Given the description of an element on the screen output the (x, y) to click on. 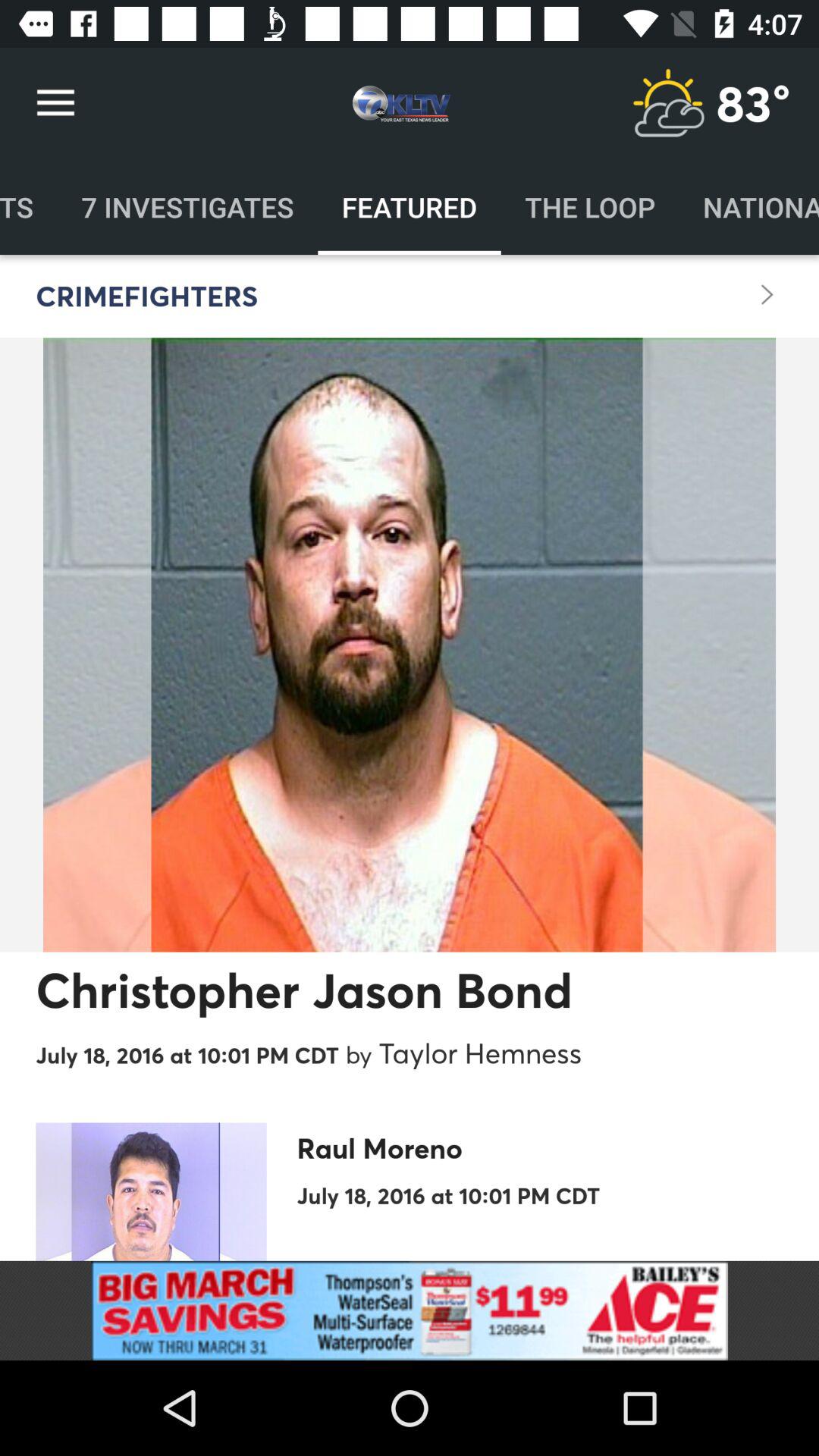
for advertisement (409, 1310)
